Given the description of an element on the screen output the (x, y) to click on. 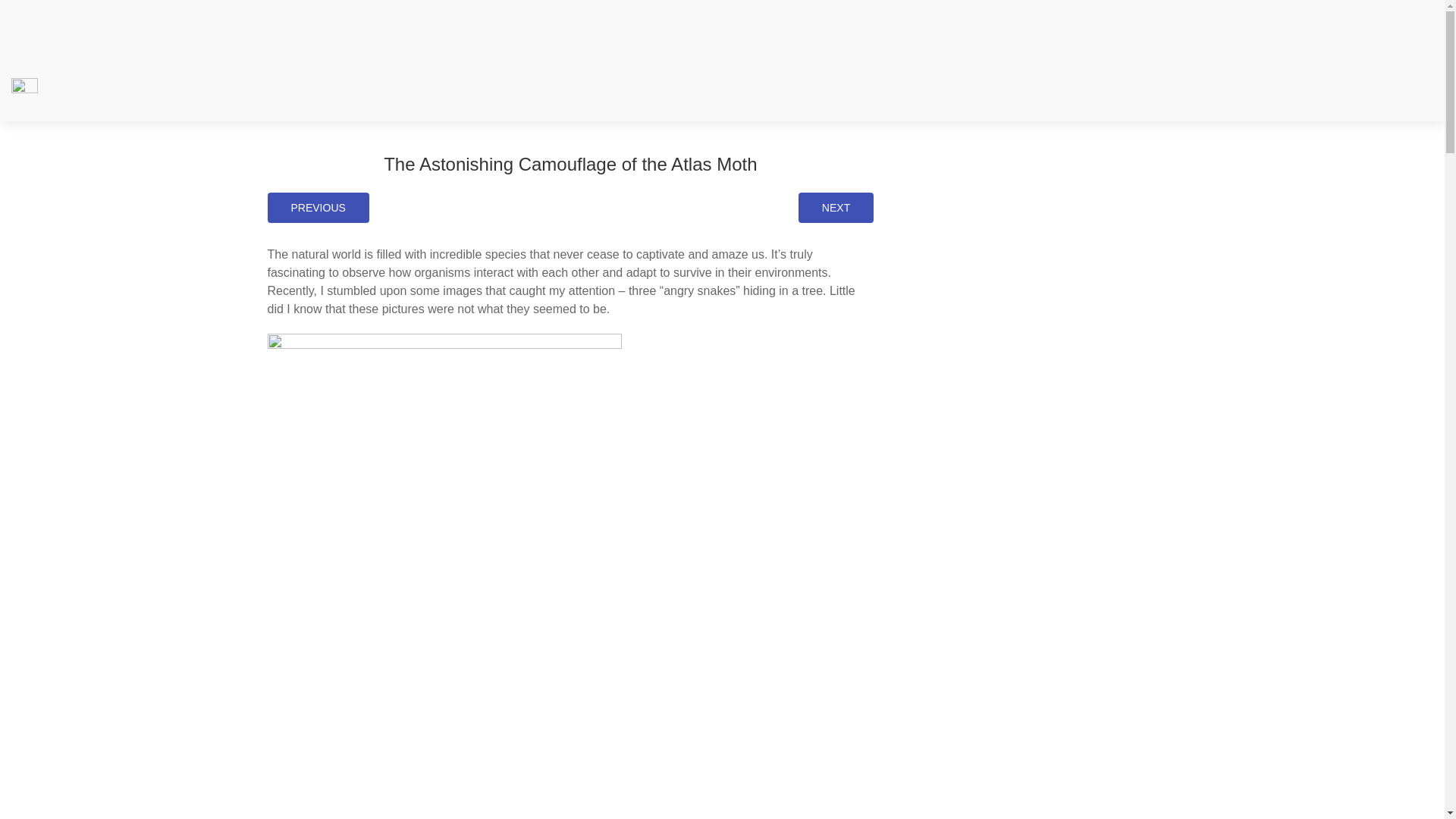
PREVIOUS (317, 207)
NEXT (835, 207)
